Given the description of an element on the screen output the (x, y) to click on. 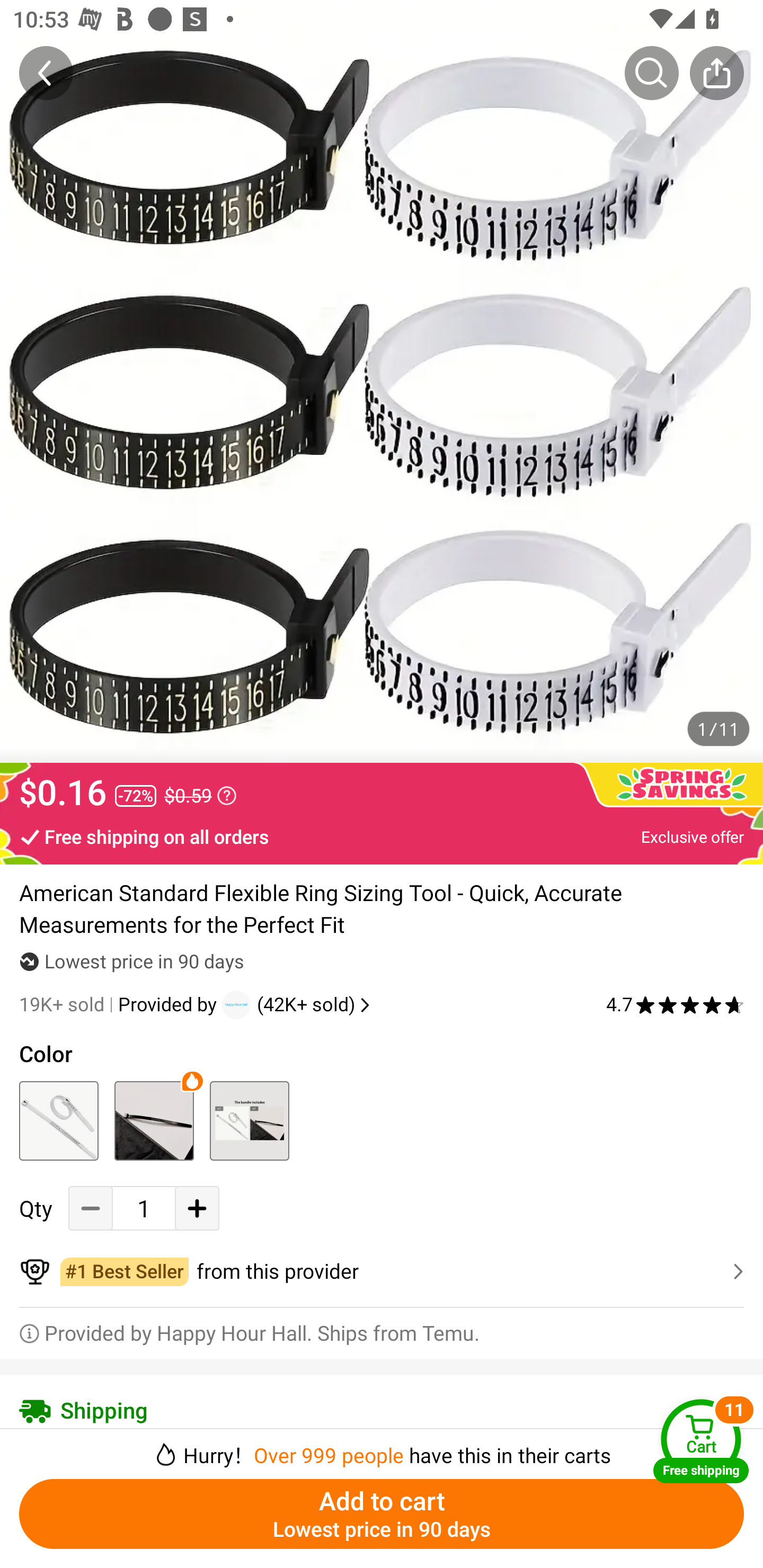
Back (46, 72)
Share (716, 72)
Free shipping on all orders Exclusive offer (381, 836)
4.7 (674, 1005)
White (58, 1120)
Black   (153, 1120)
White+Black (249, 1120)
Decrease Quantity Button (90, 1207)
1 (143, 1207)
Add Quantity button (196, 1207)
￼￼from this provider (381, 1271)
Shipping (381, 1410)
Cart Free shipping Cart (701, 1440)
￼￼Hurry！Over 999 people have this in their carts (381, 1448)
Add to cart Lowest price in 90 days (381, 1513)
